Given the description of an element on the screen output the (x, y) to click on. 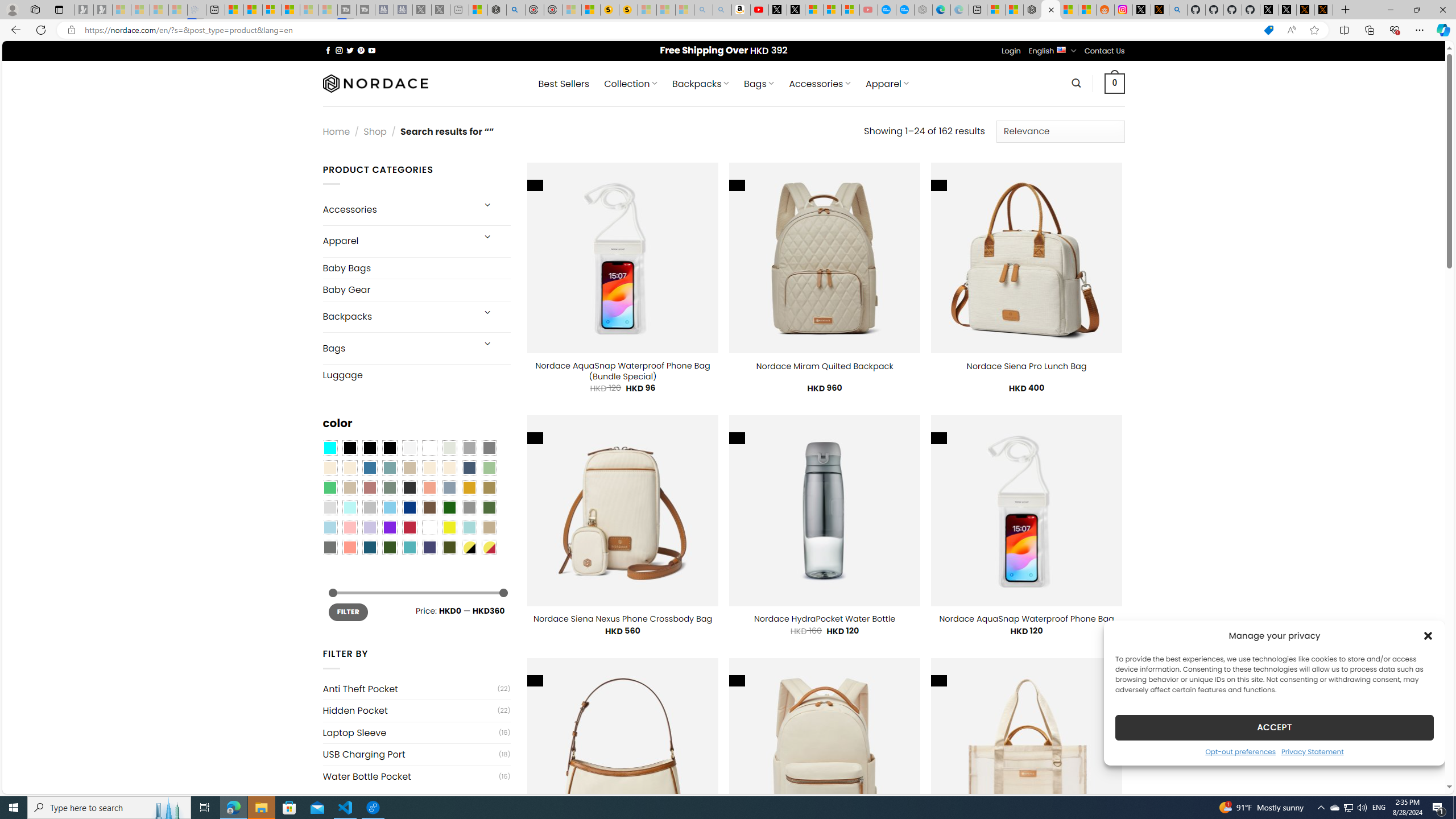
Refresh (40, 29)
Yellow-Red (488, 547)
Opt-out preferences (1240, 750)
Luggage (416, 375)
Nordace - Summer Adventures 2024 (497, 9)
Anti Theft Pocket(22) (416, 689)
All Gray (488, 447)
Baby Bags (416, 268)
Day 1: Arriving in Yemen (surreal to be here) - YouTube (759, 9)
Black (369, 447)
Microsoft Start - Sleeping (309, 9)
Amazon Echo Dot PNG - Search Images - Sleeping (721, 9)
